Given the description of an element on the screen output the (x, y) to click on. 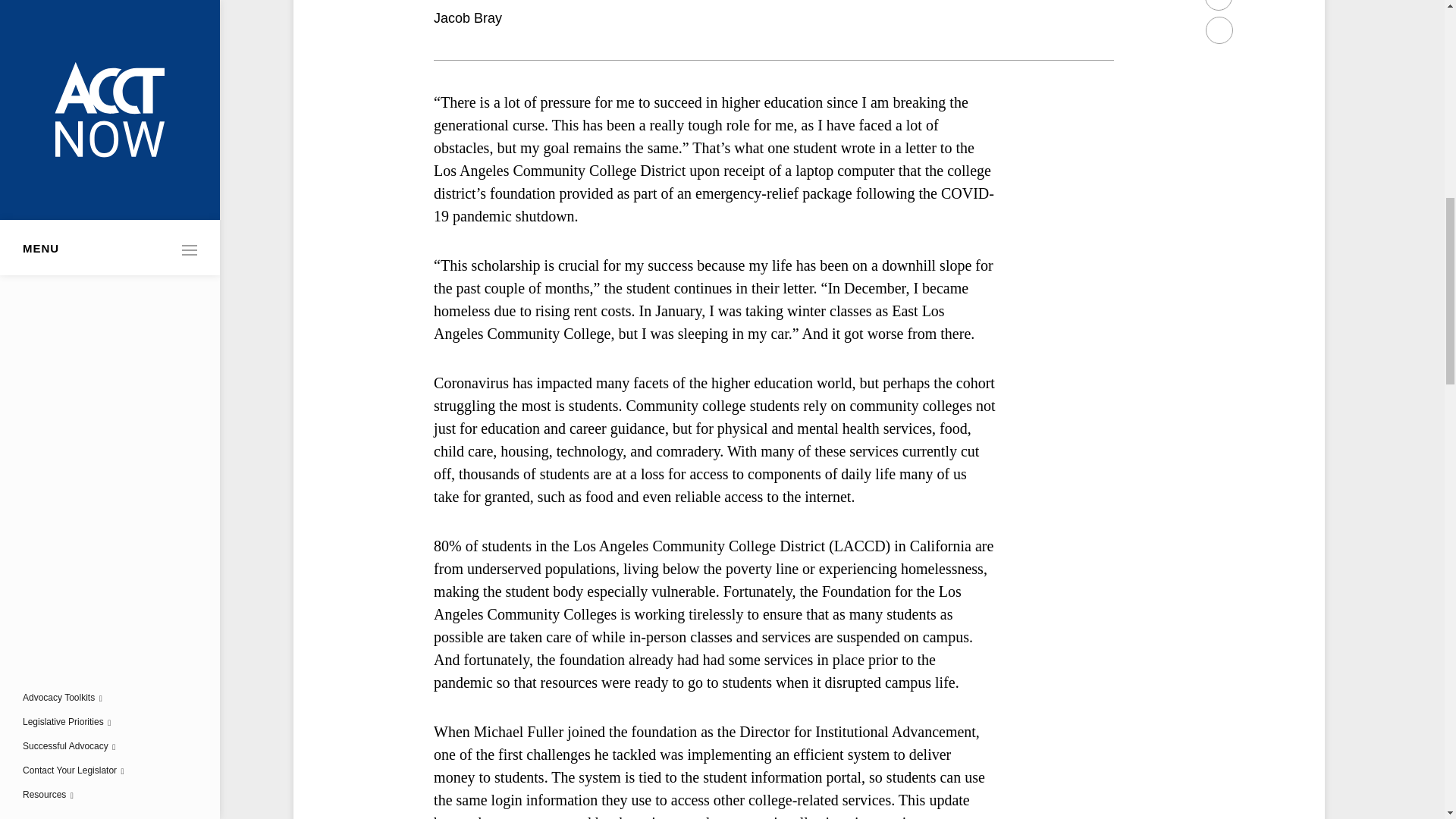
Share on Email (1219, 29)
